Given the description of an element on the screen output the (x, y) to click on. 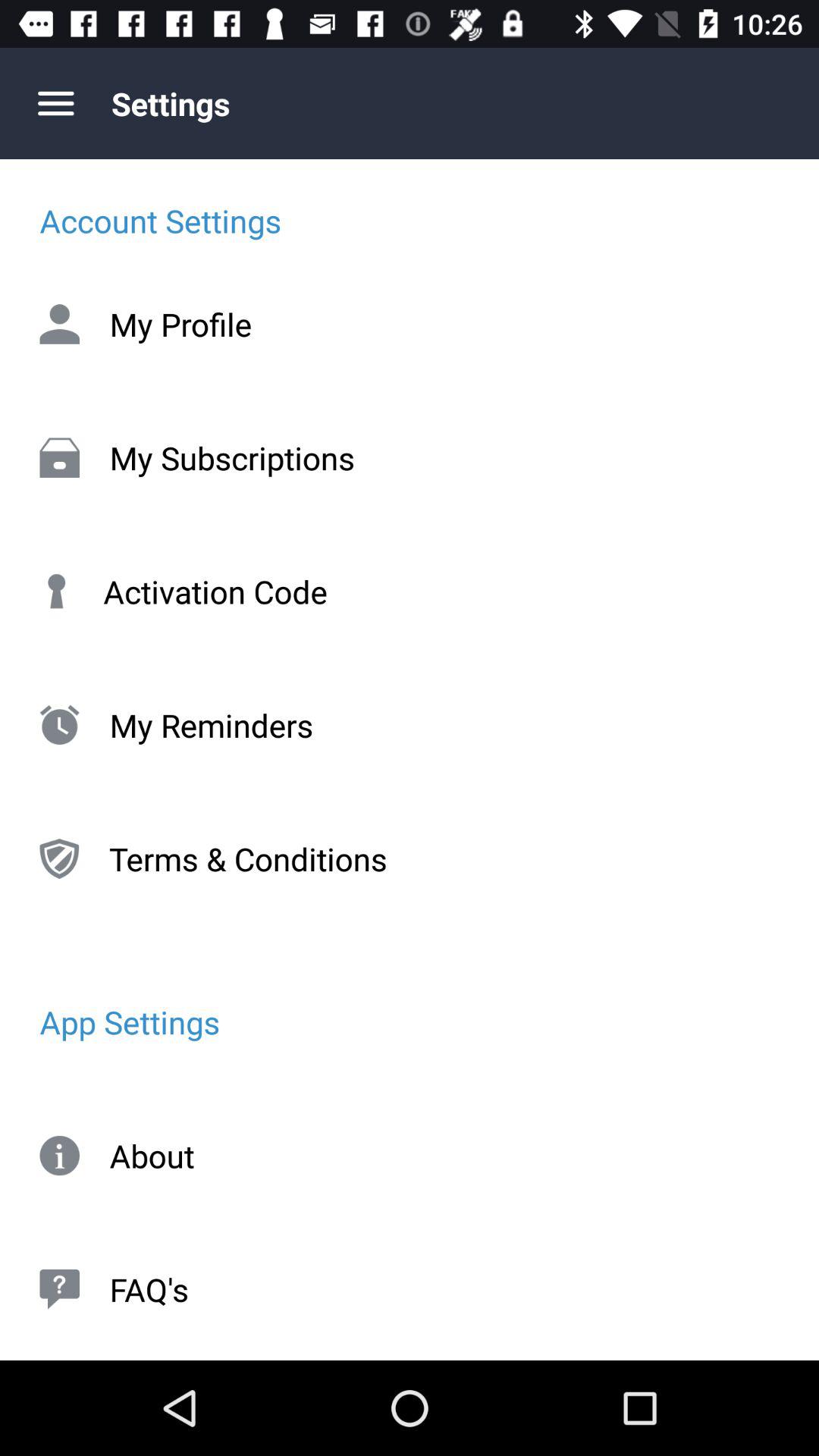
click the about (409, 1155)
